Given the description of an element on the screen output the (x, y) to click on. 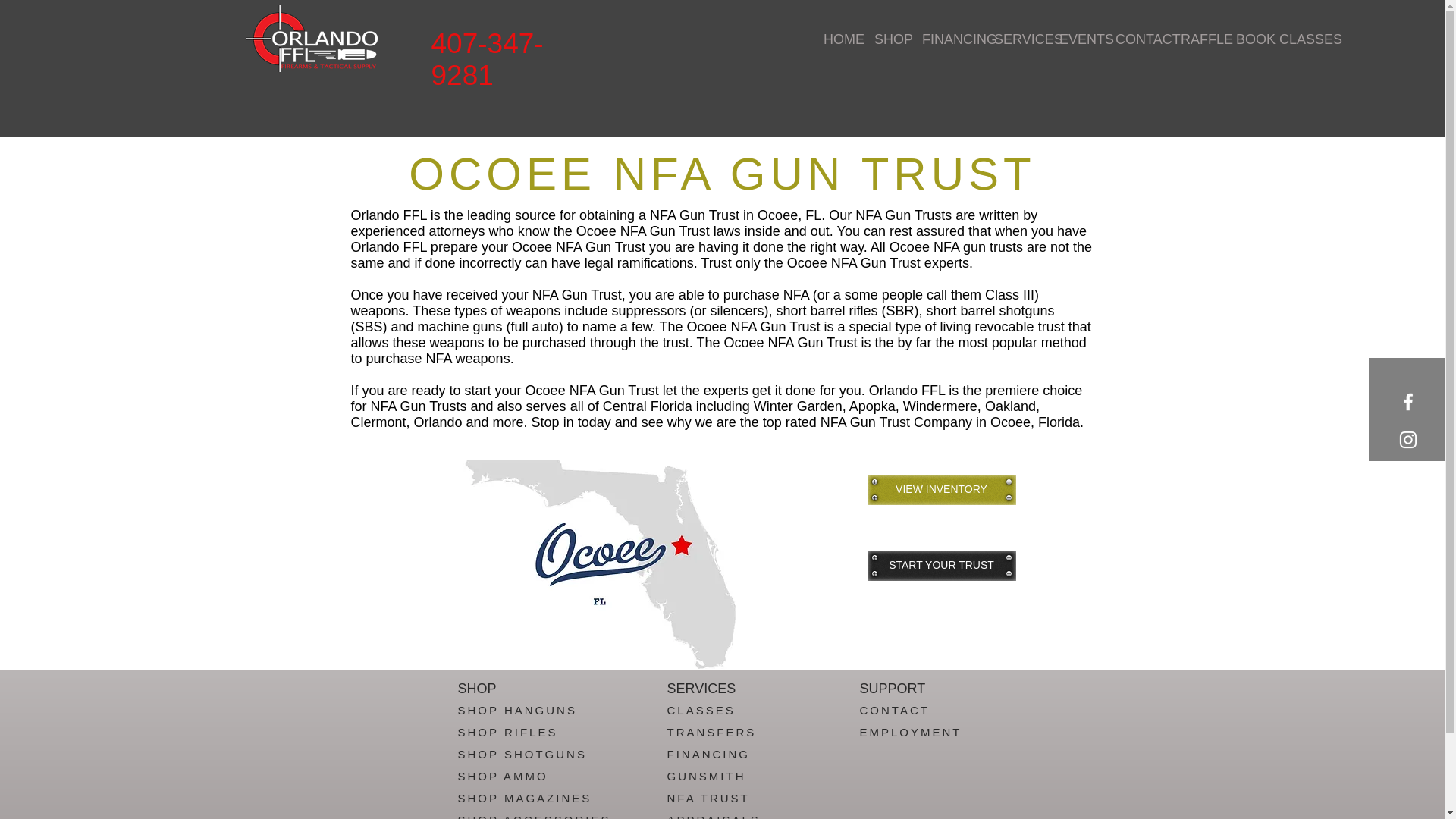
RAFFLE (1196, 39)
NFA TRUST (707, 797)
FINANCING (708, 753)
SHOP SHOTGUNS (522, 753)
SHOP HANGUNS (517, 709)
CONTACT (1136, 39)
FINANCING (946, 39)
407-347-9281 (486, 58)
SHOP ACCESSORIES (534, 816)
CONTACT (895, 709)
GUNSMITH (705, 775)
BOOK CLASSES (1269, 39)
VIEW INVENTORY (941, 490)
SHOP MAGAZINES (525, 797)
SHOP AMMO (503, 775)
